Given the description of an element on the screen output the (x, y) to click on. 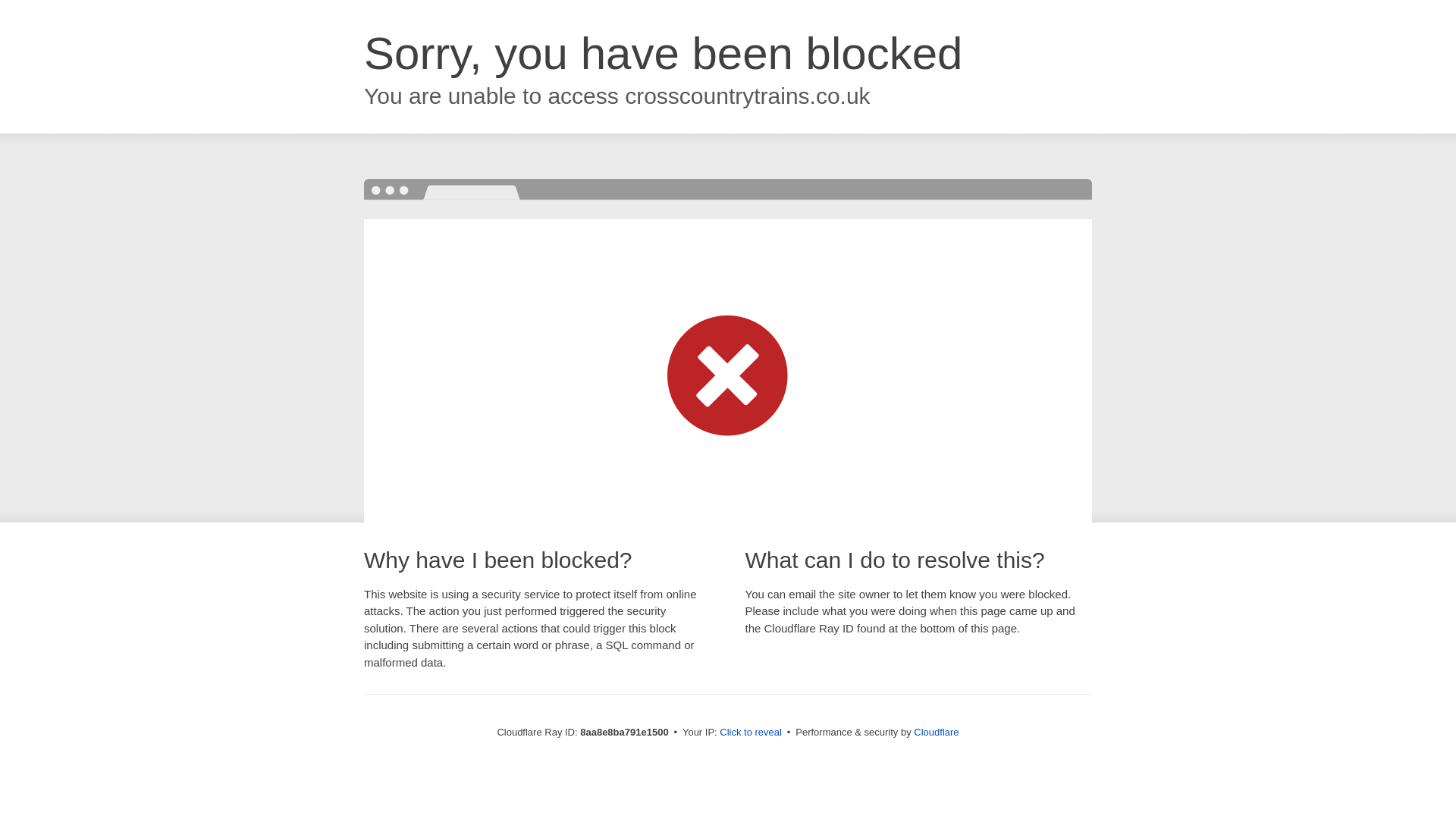
Cloudflare (936, 731)
Click to reveal (750, 732)
